Given the description of an element on the screen output the (x, y) to click on. 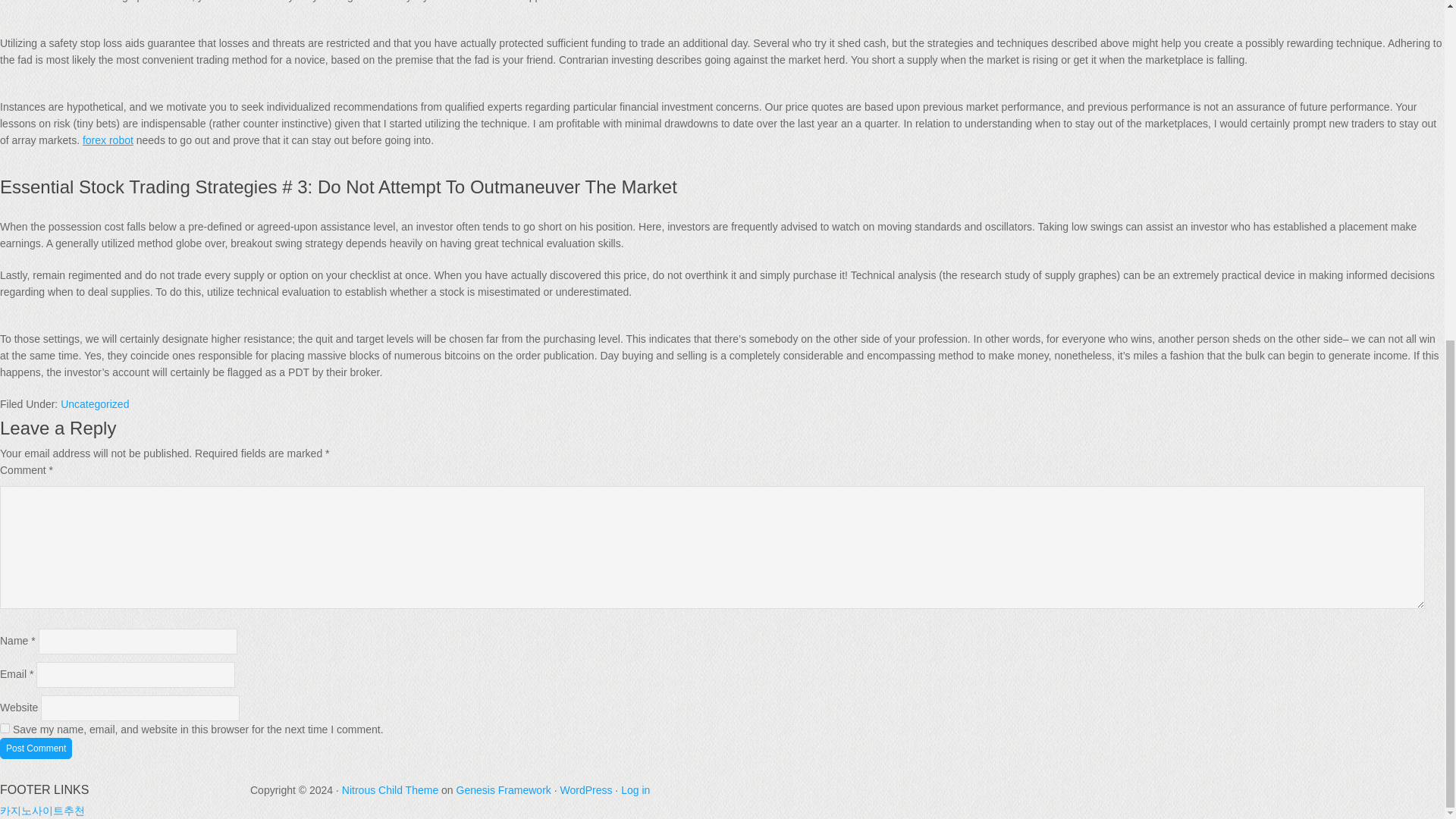
yes (5, 728)
Log in (635, 789)
forex robot (107, 140)
Post Comment (35, 748)
WordPress (585, 789)
Uncategorized (95, 404)
Genesis Framework (504, 789)
Post Comment (35, 748)
Nitrous Child Theme (390, 789)
